Given the description of an element on the screen output the (x, y) to click on. 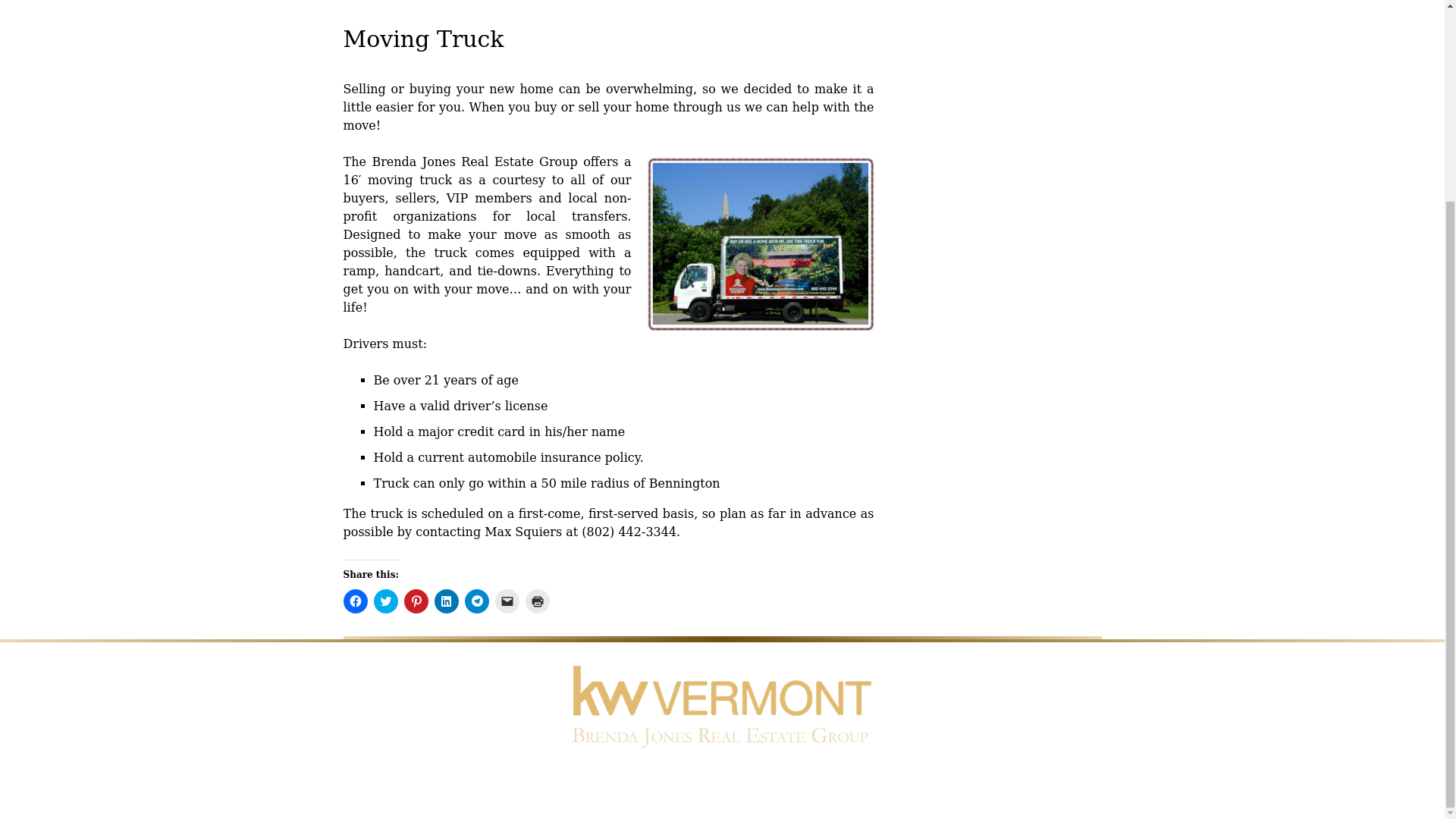
Click to share on Twitter (384, 600)
Click to share on Pinterest (415, 600)
Click to print (536, 600)
Click to share on LinkedIn (445, 600)
Click to share on Facebook (354, 600)
Click to email a link to a friend (506, 600)
Click to share on Telegram (475, 600)
